Given the description of an element on the screen output the (x, y) to click on. 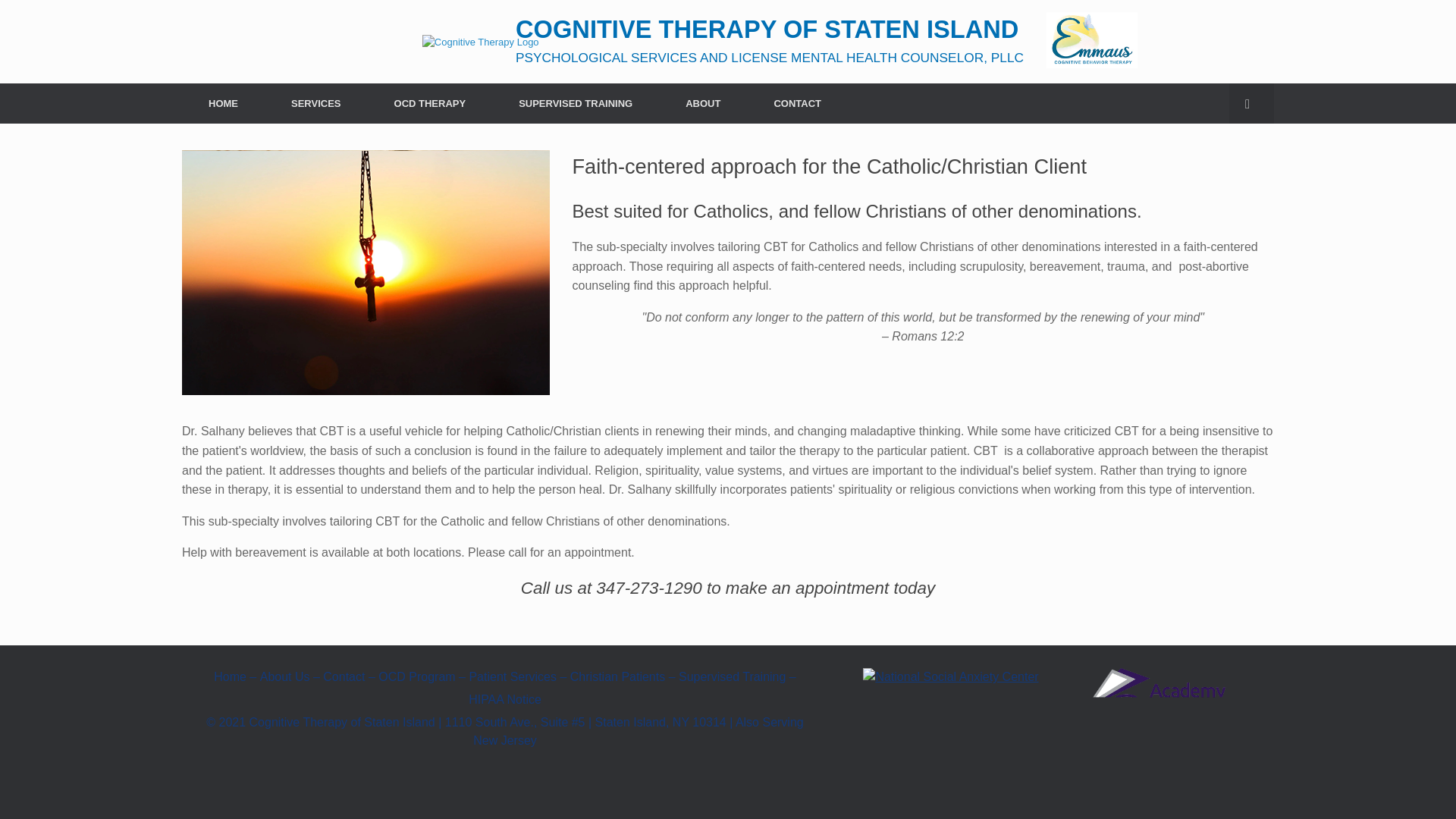
HOME (223, 103)
Cognitive Therapy (480, 41)
SERVICES (316, 103)
HIPAA Notice (504, 701)
OCD THERAPY (430, 103)
ABOUT (702, 103)
SUPERVISED TRAINING (575, 103)
CONTACT (796, 103)
